Given the description of an element on the screen output the (x, y) to click on. 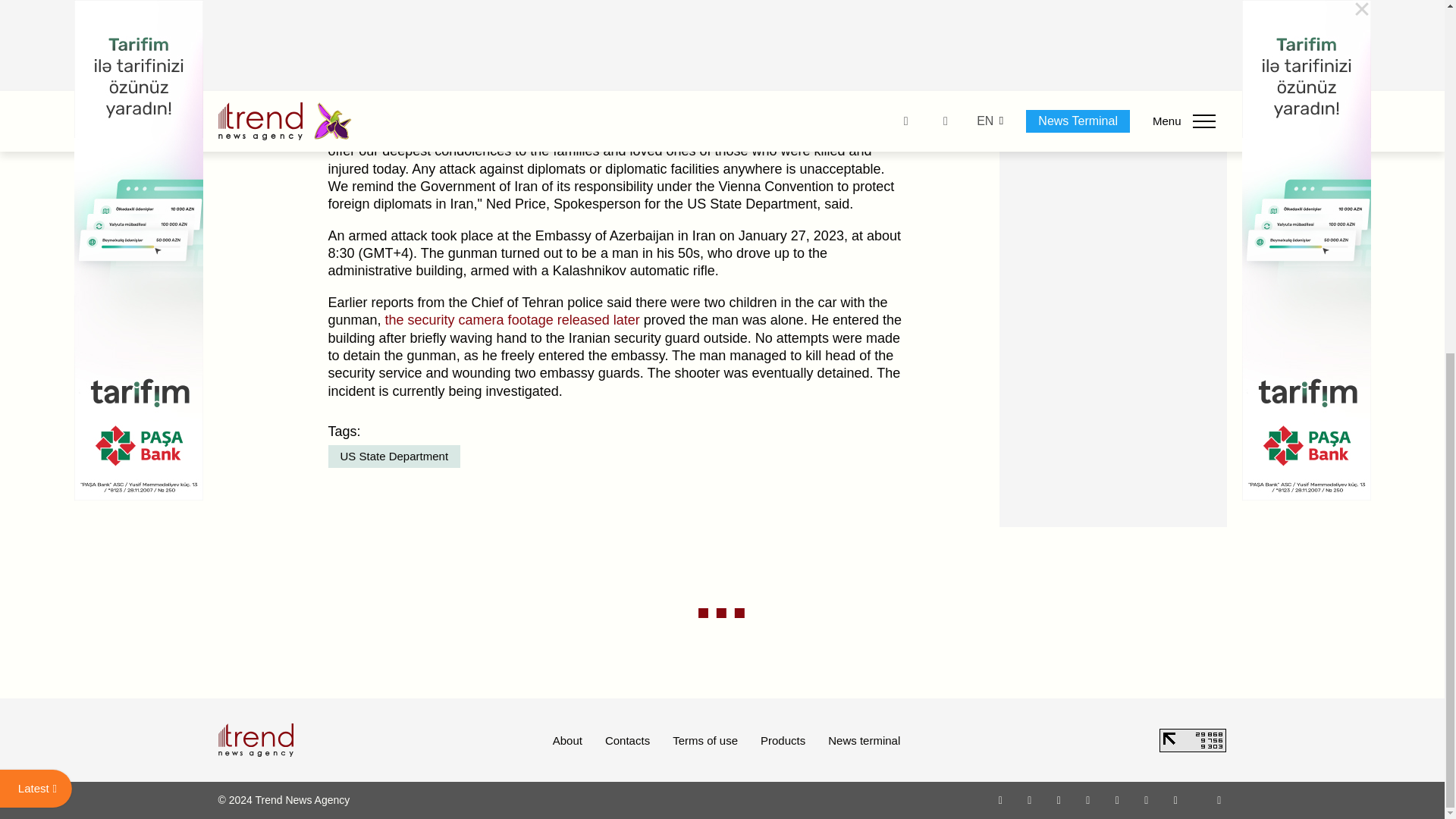
Whatsapp (1000, 799)
RSS Feed (1219, 799)
Twitter (1059, 799)
Youtube (1088, 799)
Telegram (1117, 799)
LinkedIn (1146, 799)
Facebook (1029, 799)
3rd party ad content (1112, 7)
Android App (1176, 799)
